Given the description of an element on the screen output the (x, y) to click on. 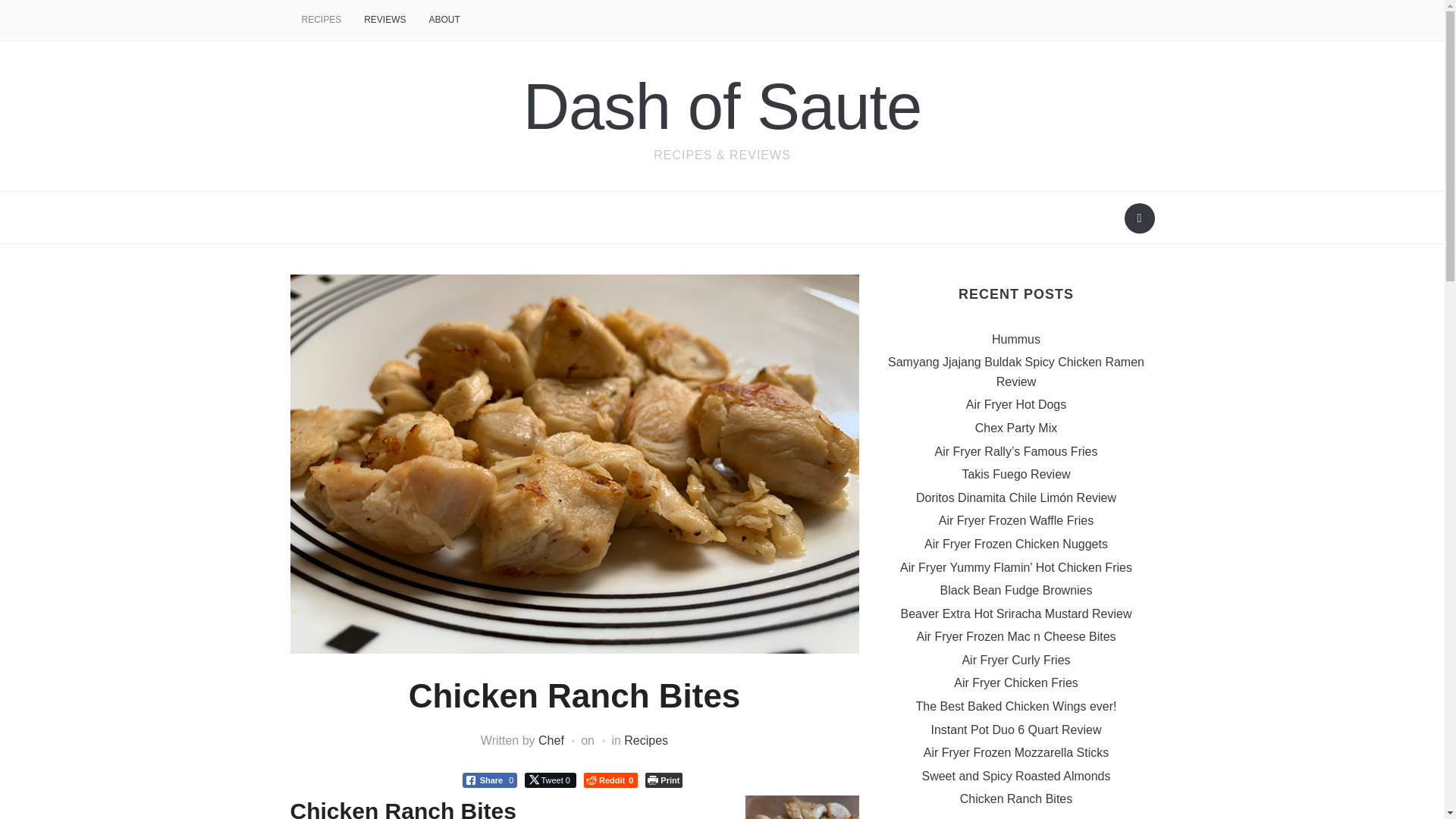
Recipes (646, 739)
Air Fryer Hot Dogs (1015, 404)
Search (1139, 218)
Reddit 0 (610, 780)
ABOUT (444, 20)
Dash of Saute (721, 106)
REVIEWS (384, 20)
Share 0 (490, 780)
Tweet 0 (550, 780)
Chef (551, 739)
